Given the description of an element on the screen output the (x, y) to click on. 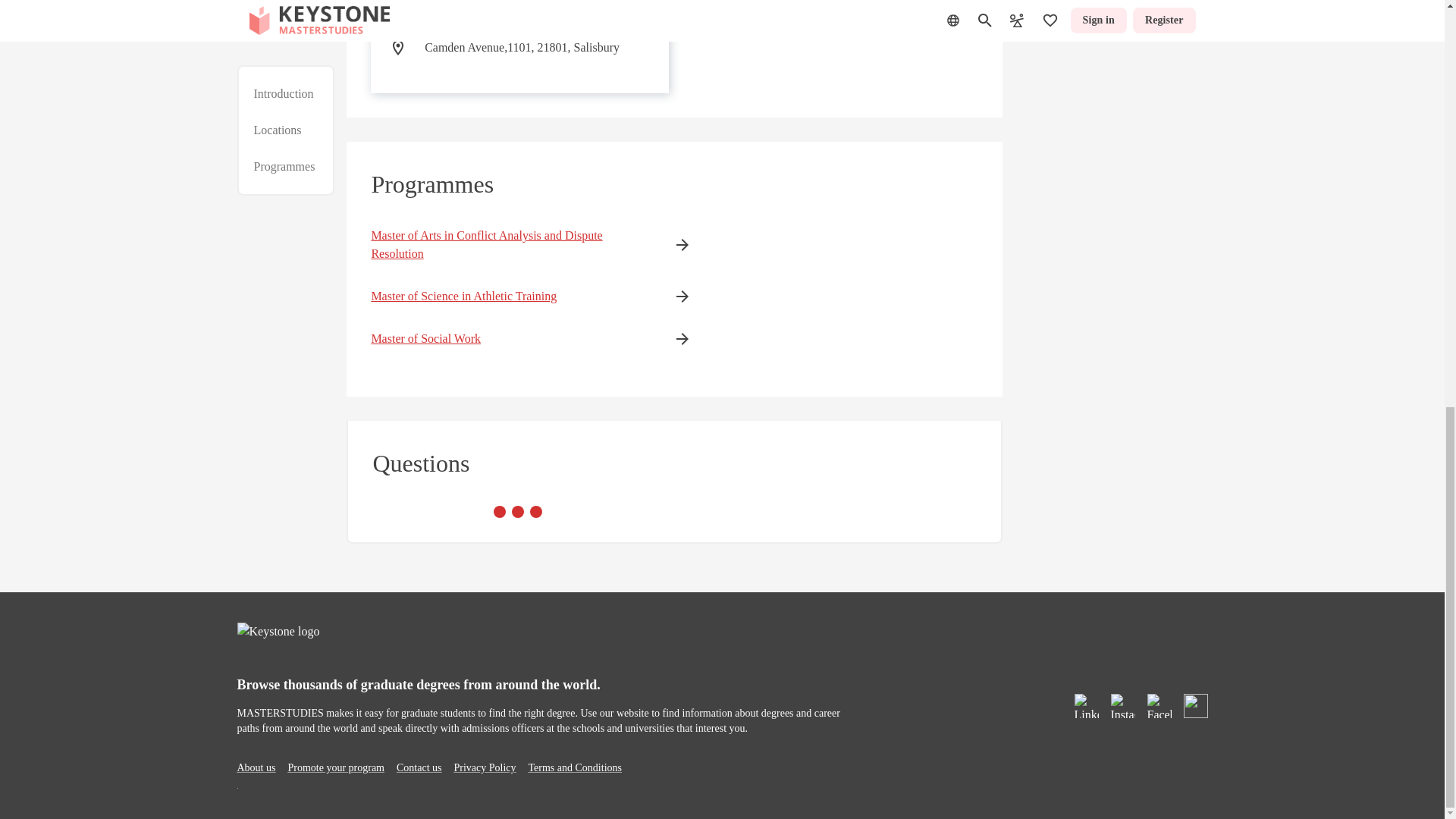
Master of Social Work (508, 339)
About us (255, 767)
Contact us (419, 767)
Terms and Conditions (574, 767)
Master of Arts in Conflict Analysis and Dispute Resolution (508, 244)
Privacy Policy (483, 767)
Promote your program (335, 767)
Master of Science in Athletic Training (508, 296)
